Given the description of an element on the screen output the (x, y) to click on. 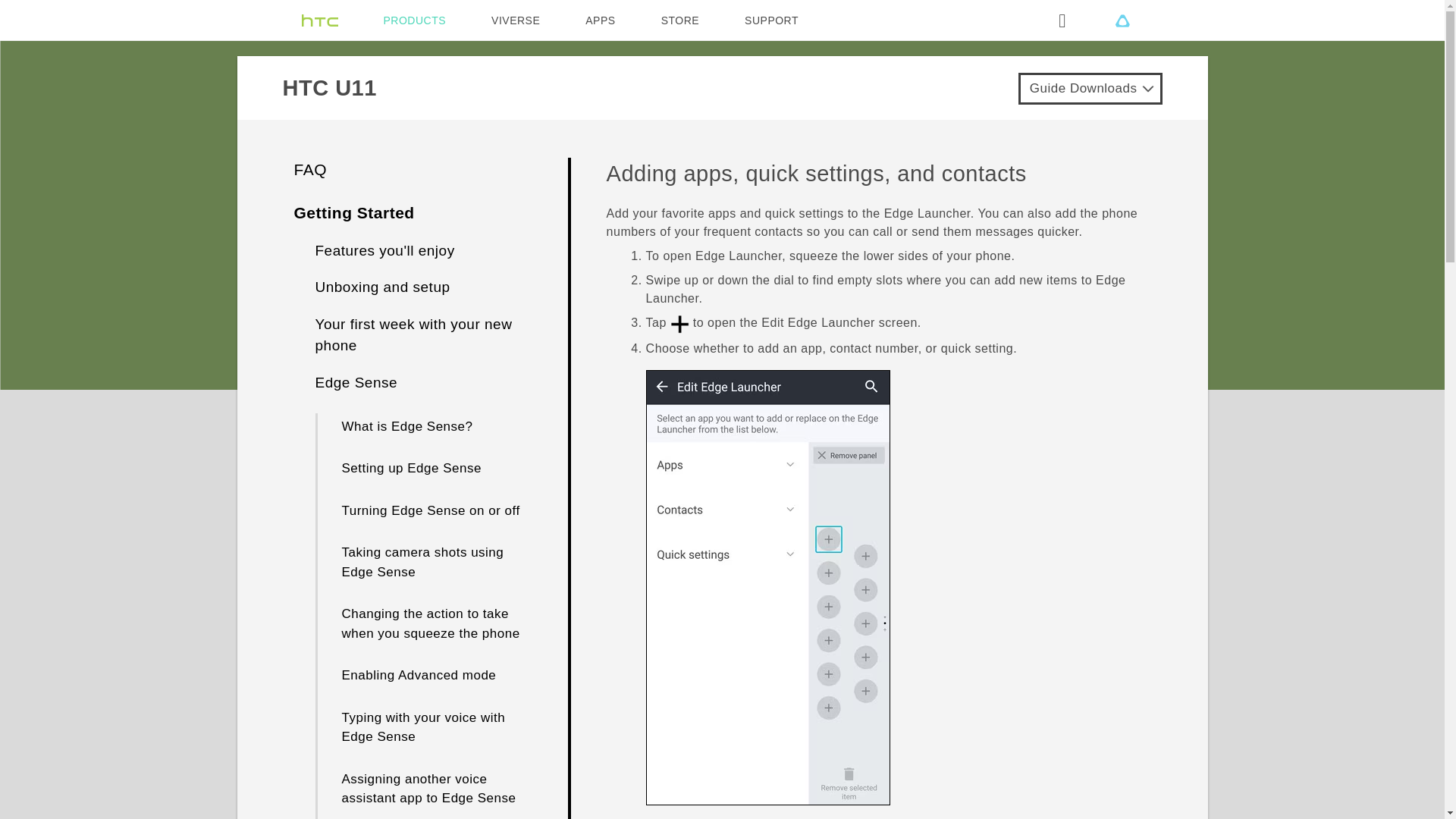
VIVERSE (516, 20)
FAQ (310, 169)
PRODUCTS (415, 20)
APPS (599, 20)
STORE (679, 20)
SUPPORT (770, 20)
